Given the description of an element on the screen output the (x, y) to click on. 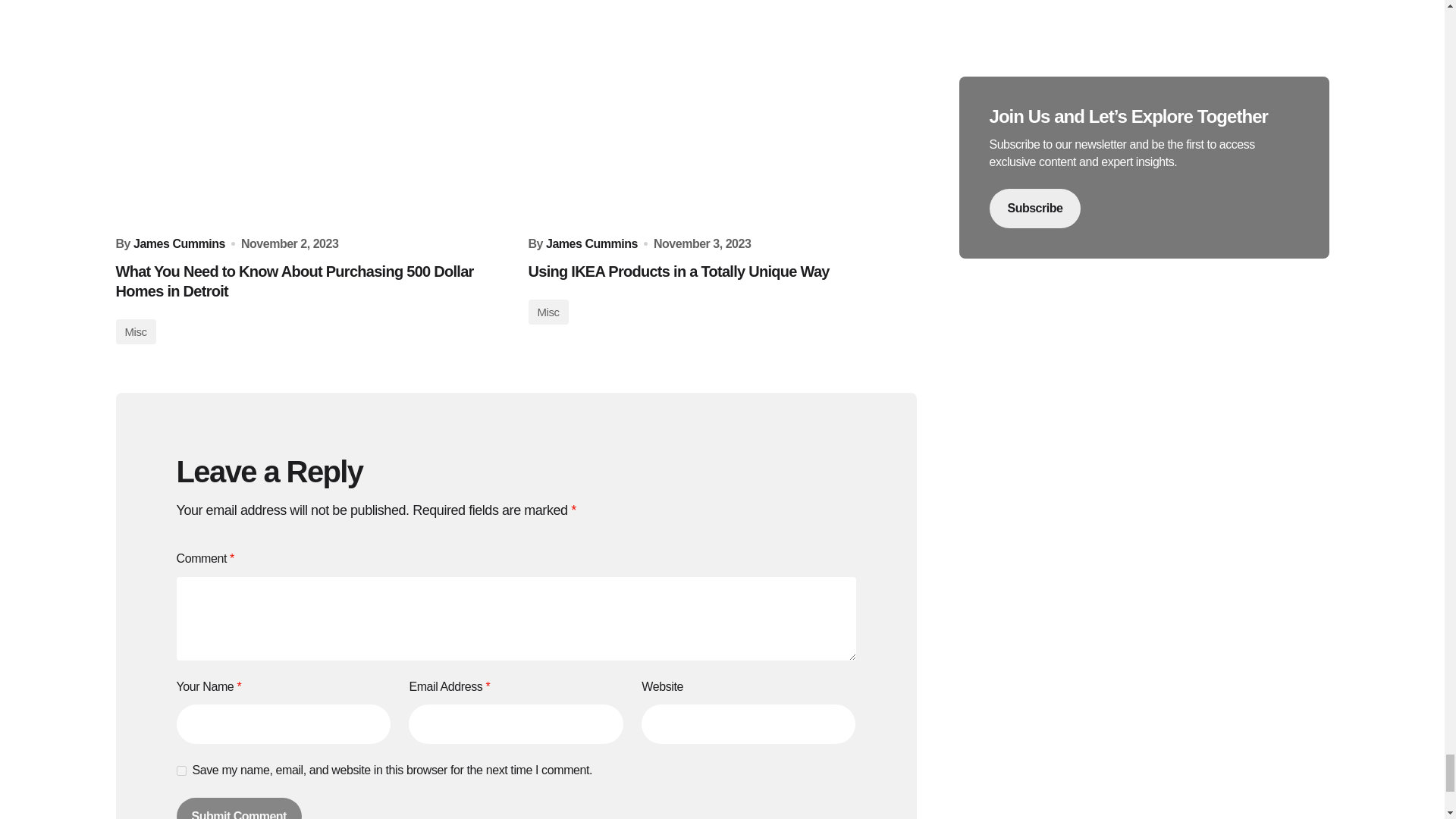
yes (181, 770)
